Given the description of an element on the screen output the (x, y) to click on. 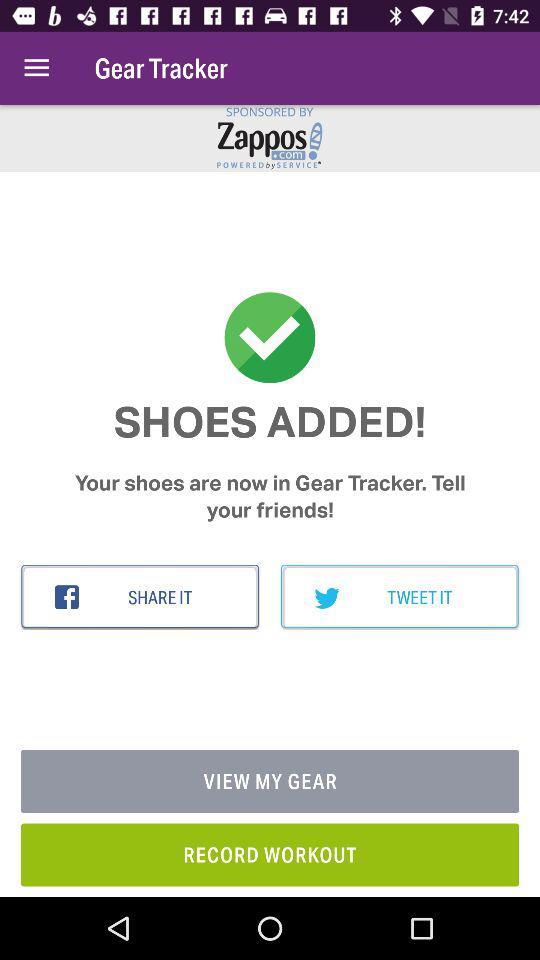
turn on the item above the view my gear icon (140, 597)
